Given the description of an element on the screen output the (x, y) to click on. 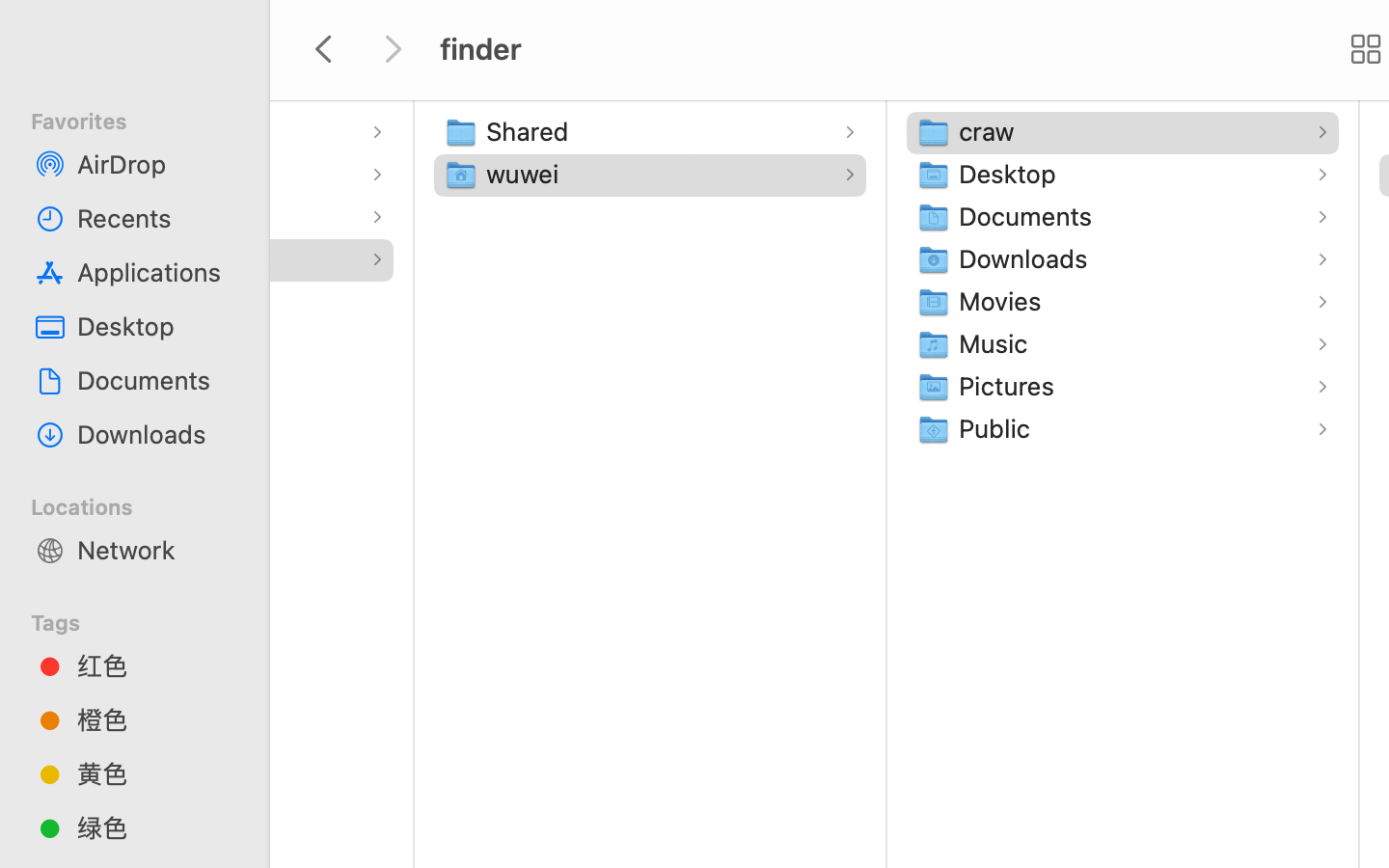
craw Element type: AXTextField (990, 130)
Network Element type: AXStaticText (155, 549)
System Element type: AXTextField (60, 215)
Shared Element type: AXTextField (531, 130)
Locations Element type: AXStaticText (145, 504)
